Given the description of an element on the screen output the (x, y) to click on. 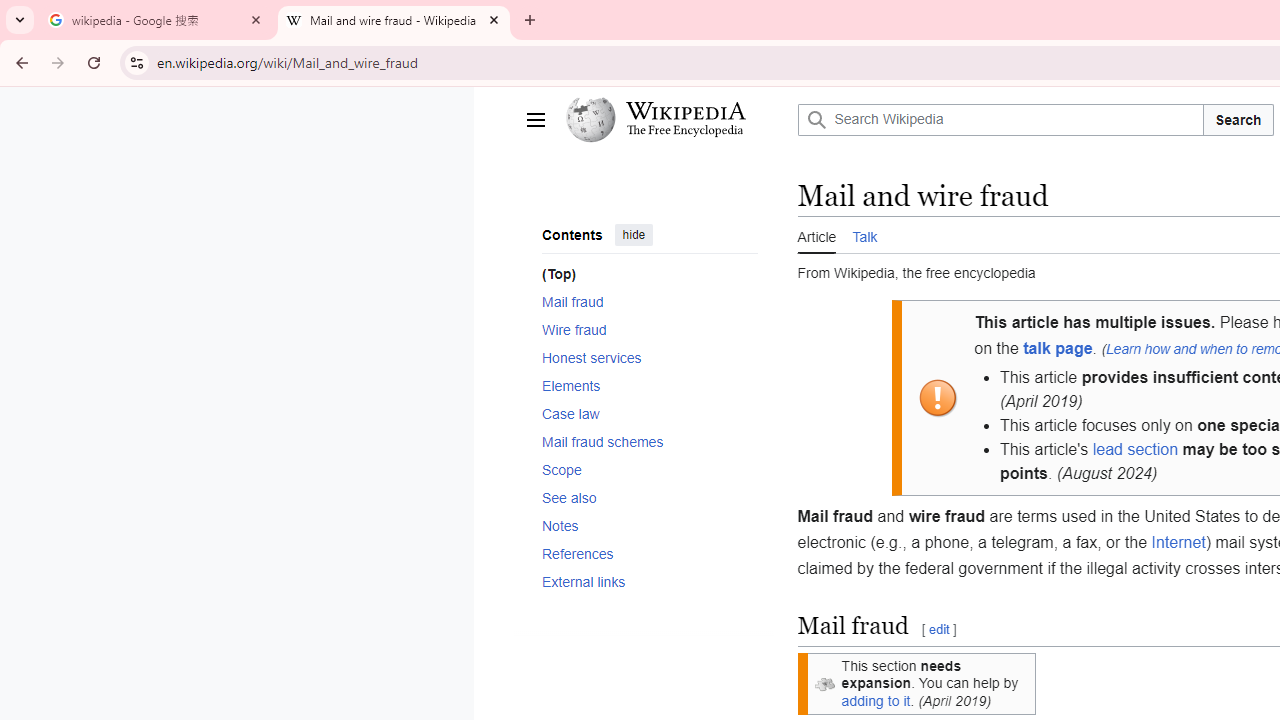
AutomationID: toc-Scope (642, 469)
AutomationID: toc-Honest_services (642, 357)
AutomationID: ca-talk (865, 234)
talk page (1057, 348)
AutomationID: ca-nstab-main (817, 234)
